Given the description of an element on the screen output the (x, y) to click on. 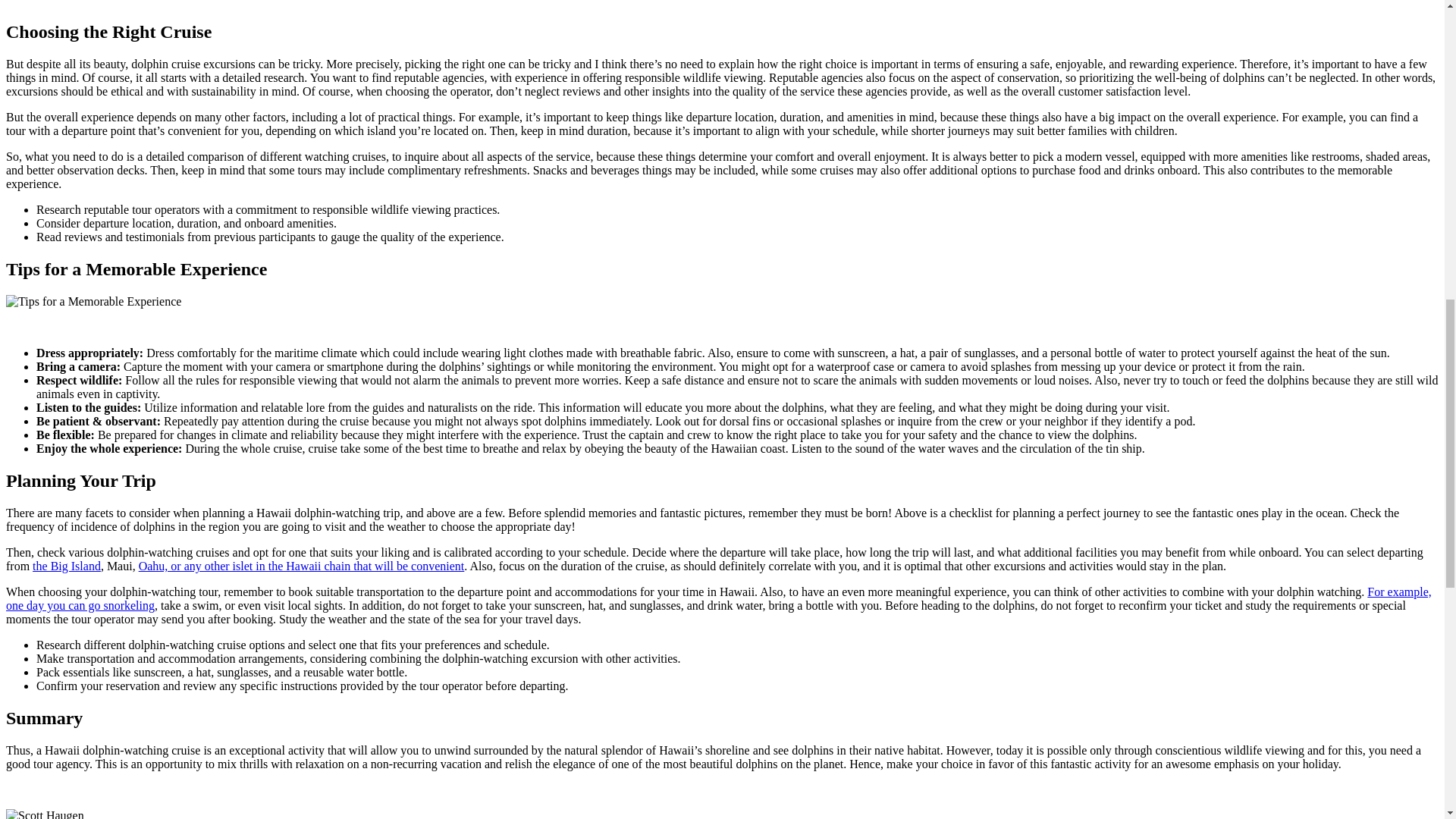
the Big Island (66, 565)
For example, one day you can go snorkeling (718, 598)
